Given the description of an element on the screen output the (x, y) to click on. 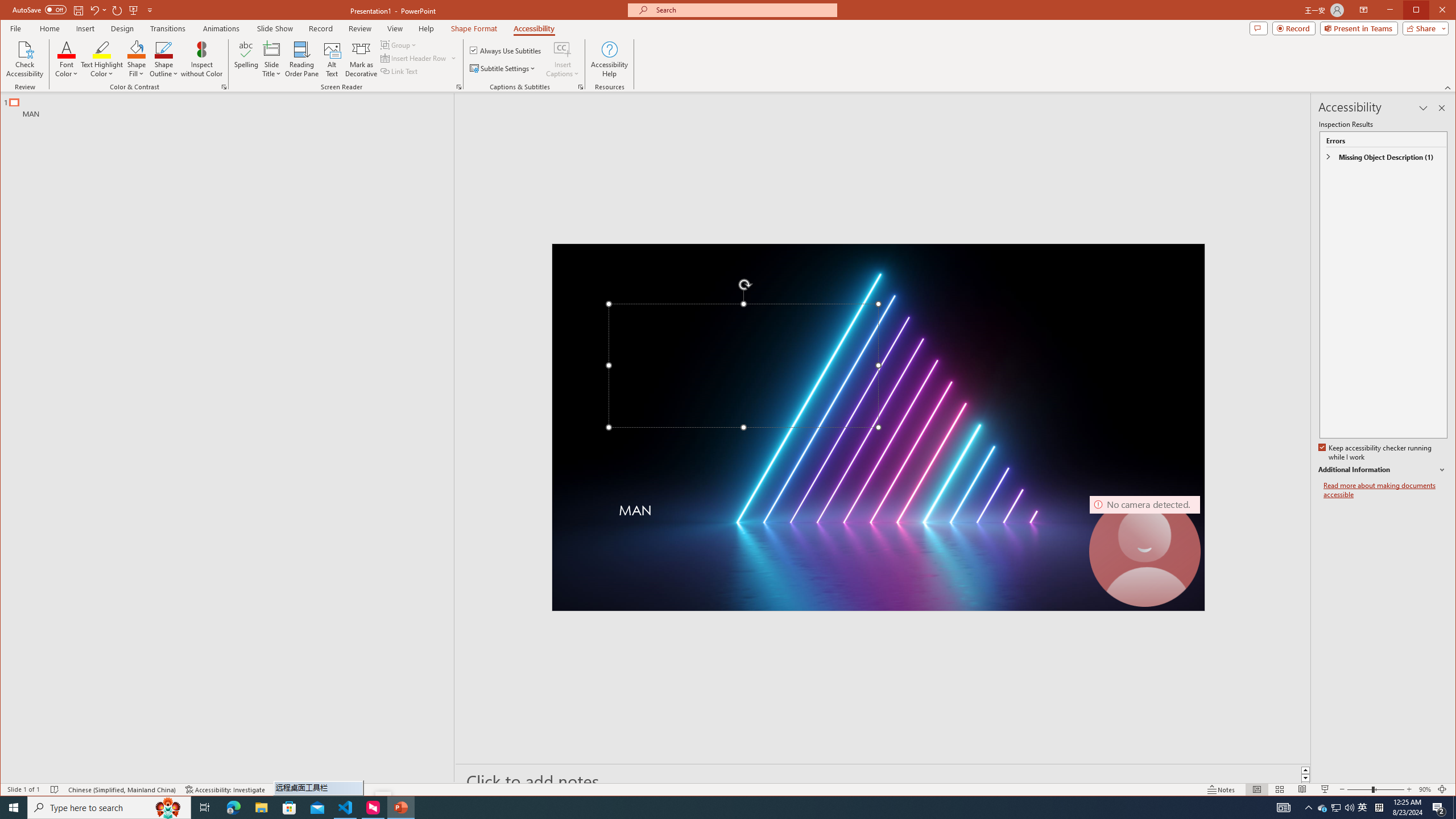
Insert Header Row (418, 57)
Accessibility Help (608, 59)
Group (399, 44)
Reading Order Pane (301, 59)
Insert Captions (562, 59)
